Given the description of an element on the screen output the (x, y) to click on. 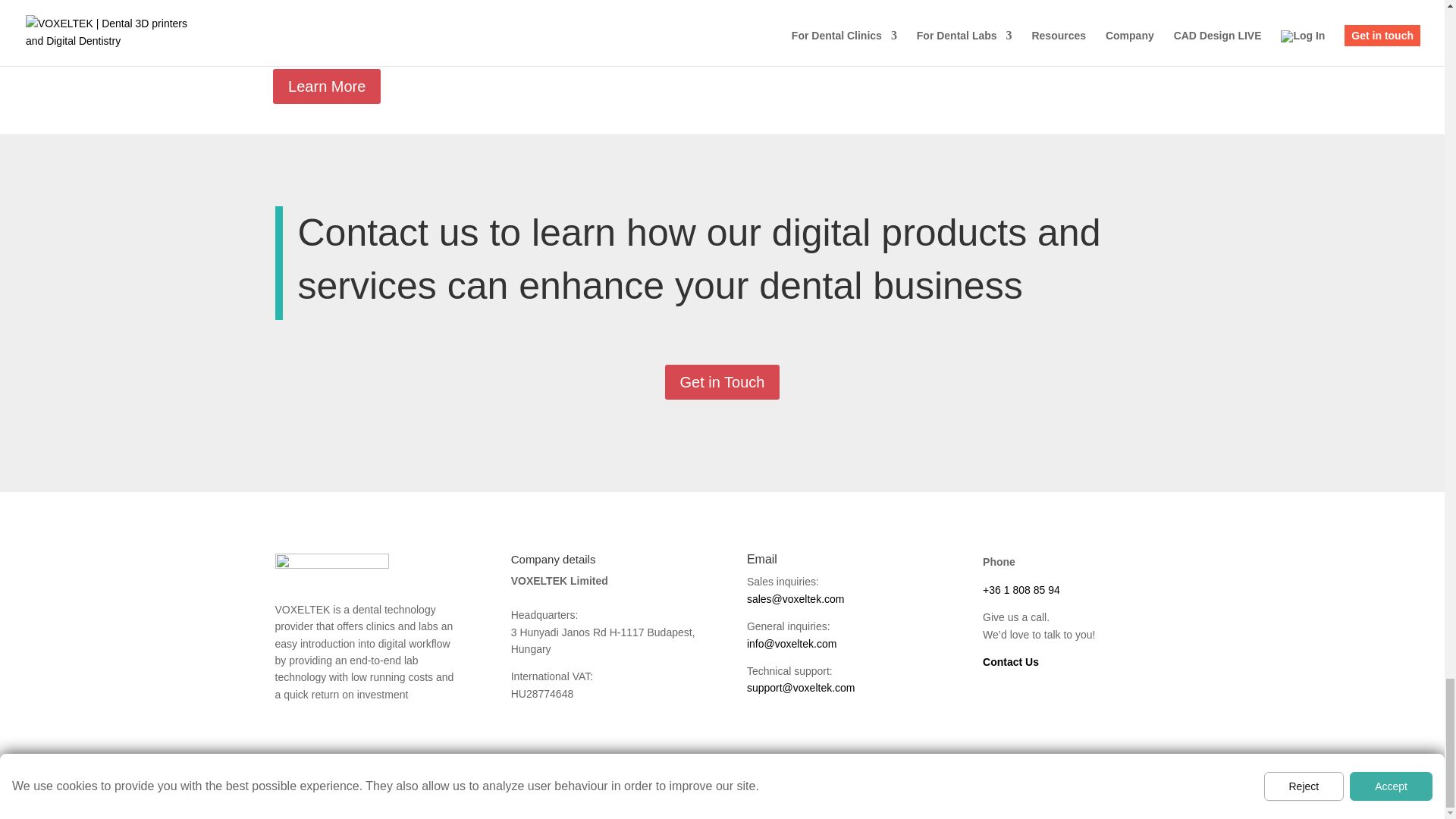
logo (331, 564)
Learn More (326, 86)
Contact Us (1010, 662)
Get in Touch (722, 381)
